Given the description of an element on the screen output the (x, y) to click on. 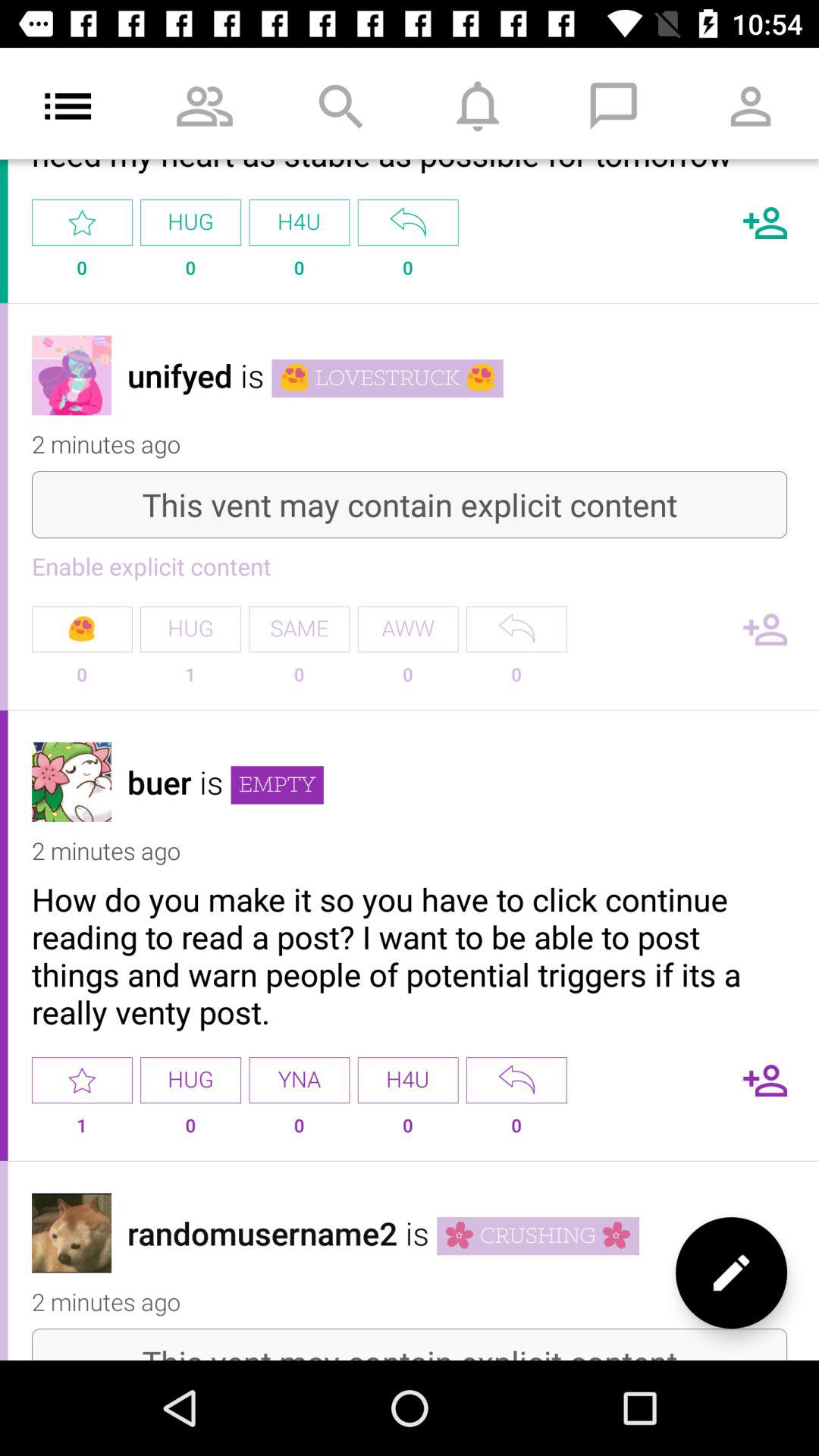
select the 0 in the enable explicit content (81, 681)
click on the emoji which is under the enable explicit content (81, 629)
select the number below the star icon which is at the bottom (81, 1131)
select the first image in the page (71, 375)
click on h4u option in the third comment (407, 1080)
click on the h4u option below search icon (299, 222)
click on the number below the yna (299, 1131)
